Given the description of an element on the screen output the (x, y) to click on. 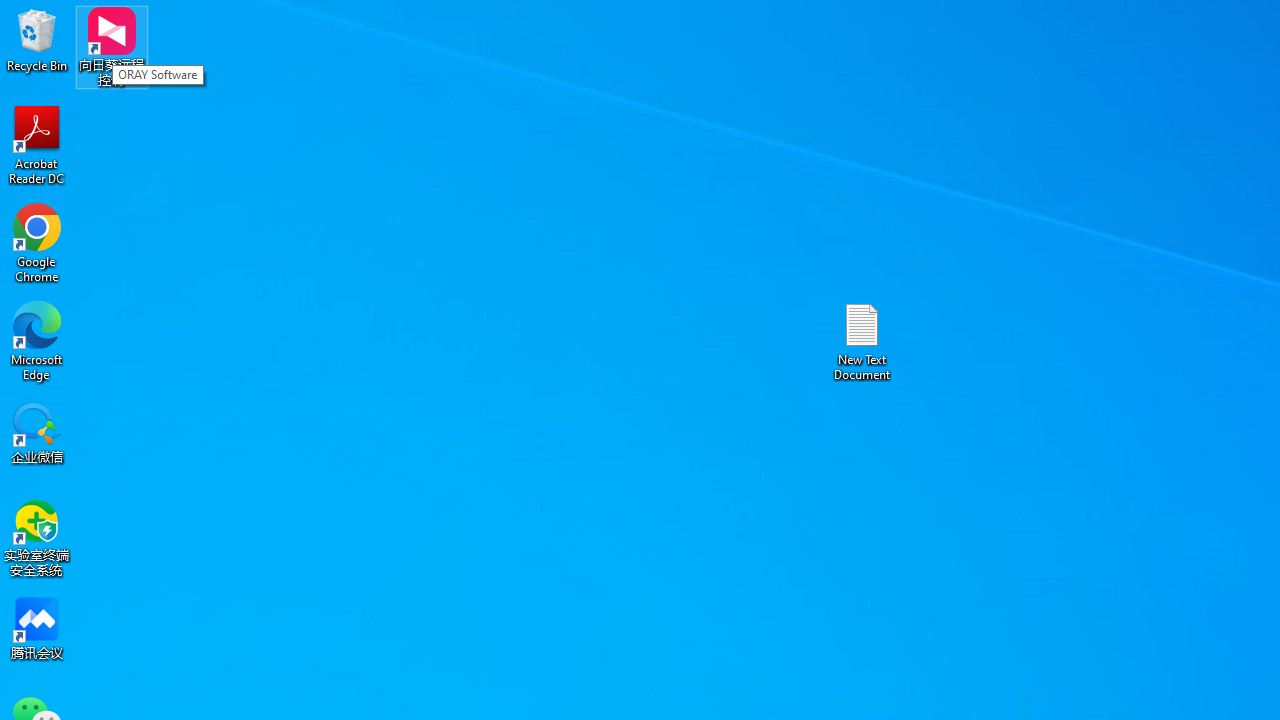
Microsoft Edge (37, 340)
Acrobat Reader DC (37, 144)
Google Chrome (37, 242)
New Text Document (861, 340)
Recycle Bin (37, 39)
